Given the description of an element on the screen output the (x, y) to click on. 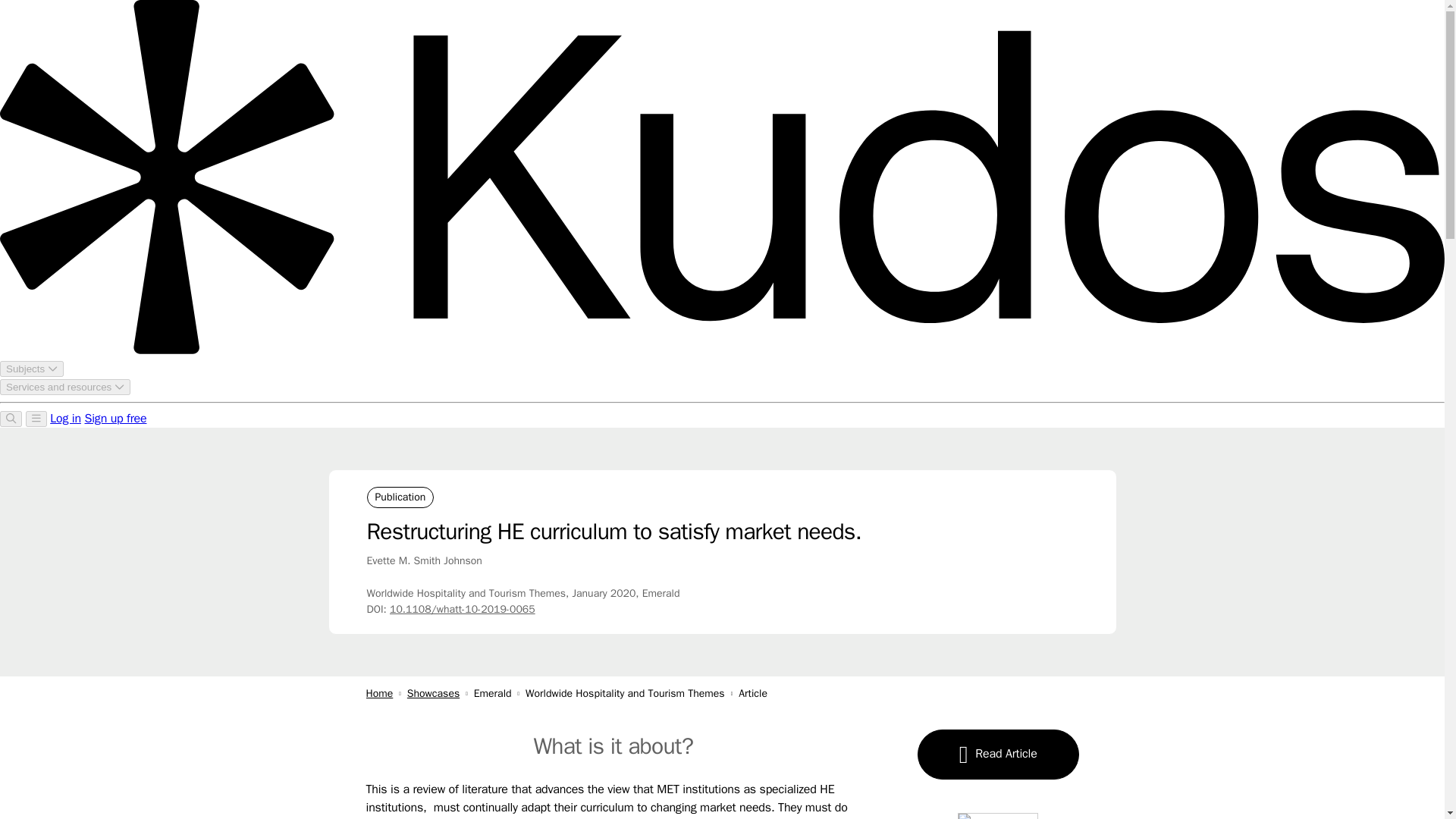
Read Article (997, 754)
Worldwide Hospitality and Tourism Themes (631, 693)
Home (379, 693)
Showcases (433, 693)
